Given the description of an element on the screen output the (x, y) to click on. 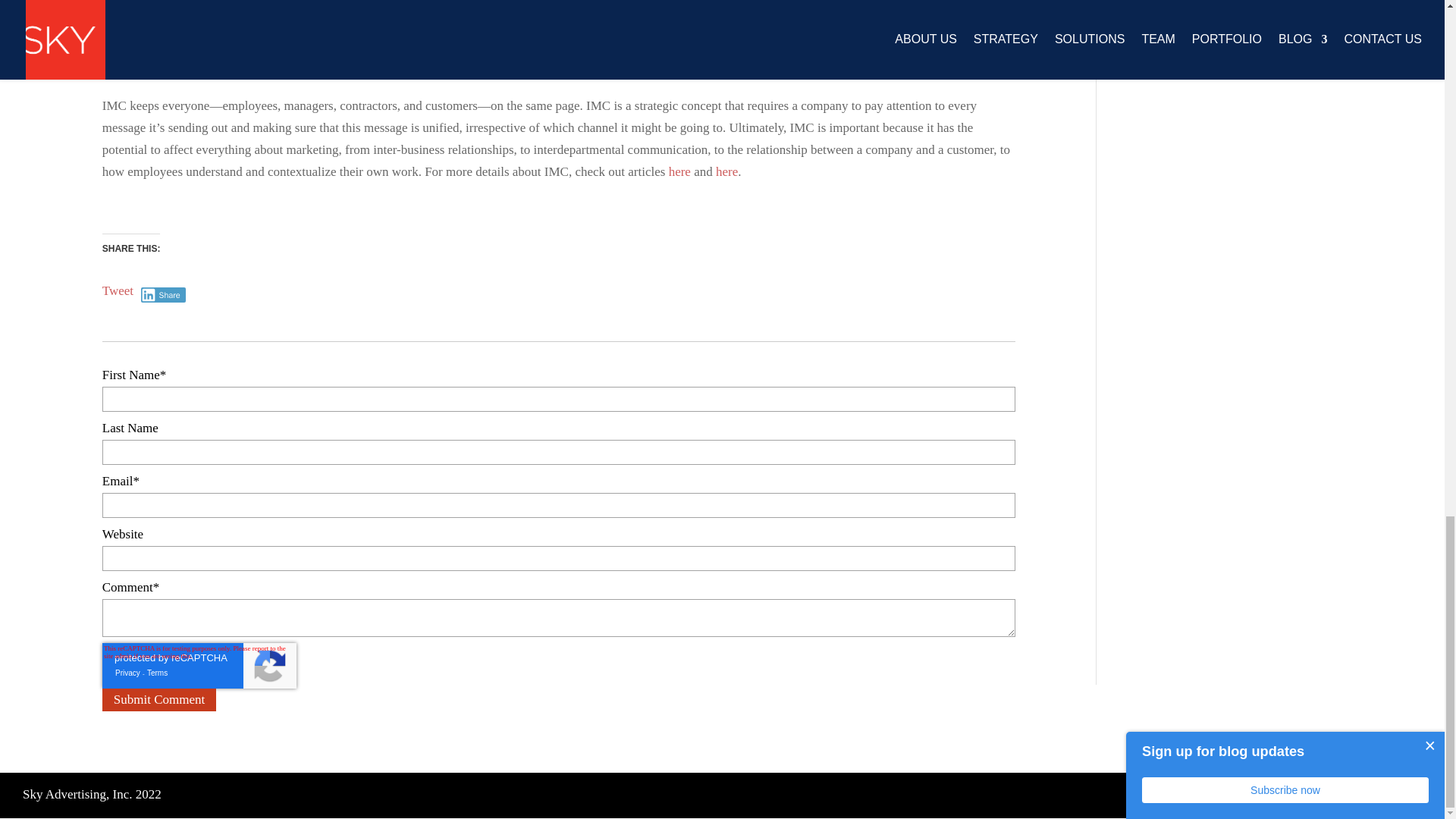
Submit Comment (158, 699)
reCAPTCHA (199, 665)
Tweet (117, 290)
Submit Comment (158, 699)
Share (163, 294)
here (727, 171)
here (679, 171)
